Given the description of an element on the screen output the (x, y) to click on. 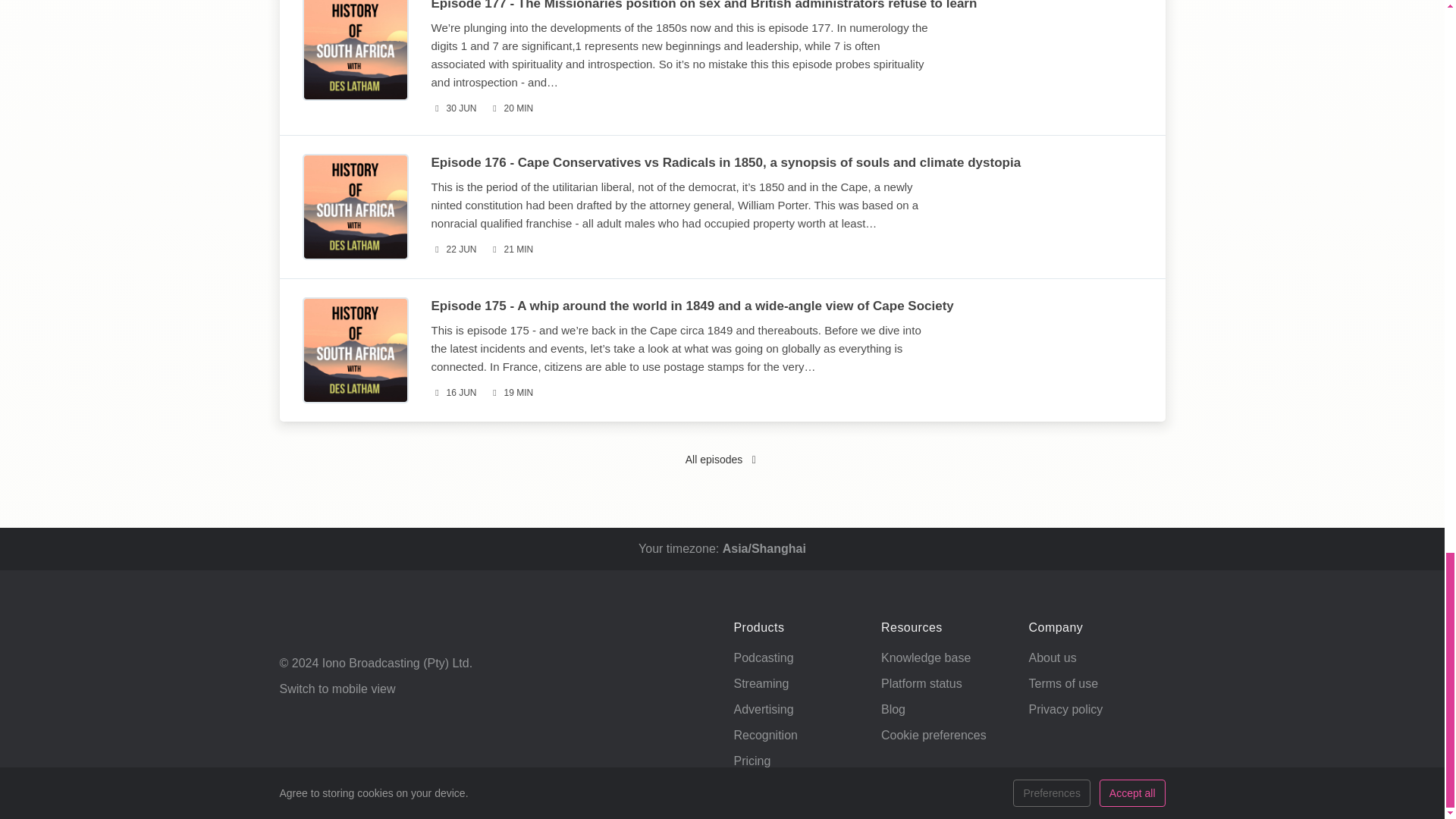
Duration (511, 108)
Duration (511, 249)
Published (453, 249)
Published (453, 108)
